Given the description of an element on the screen output the (x, y) to click on. 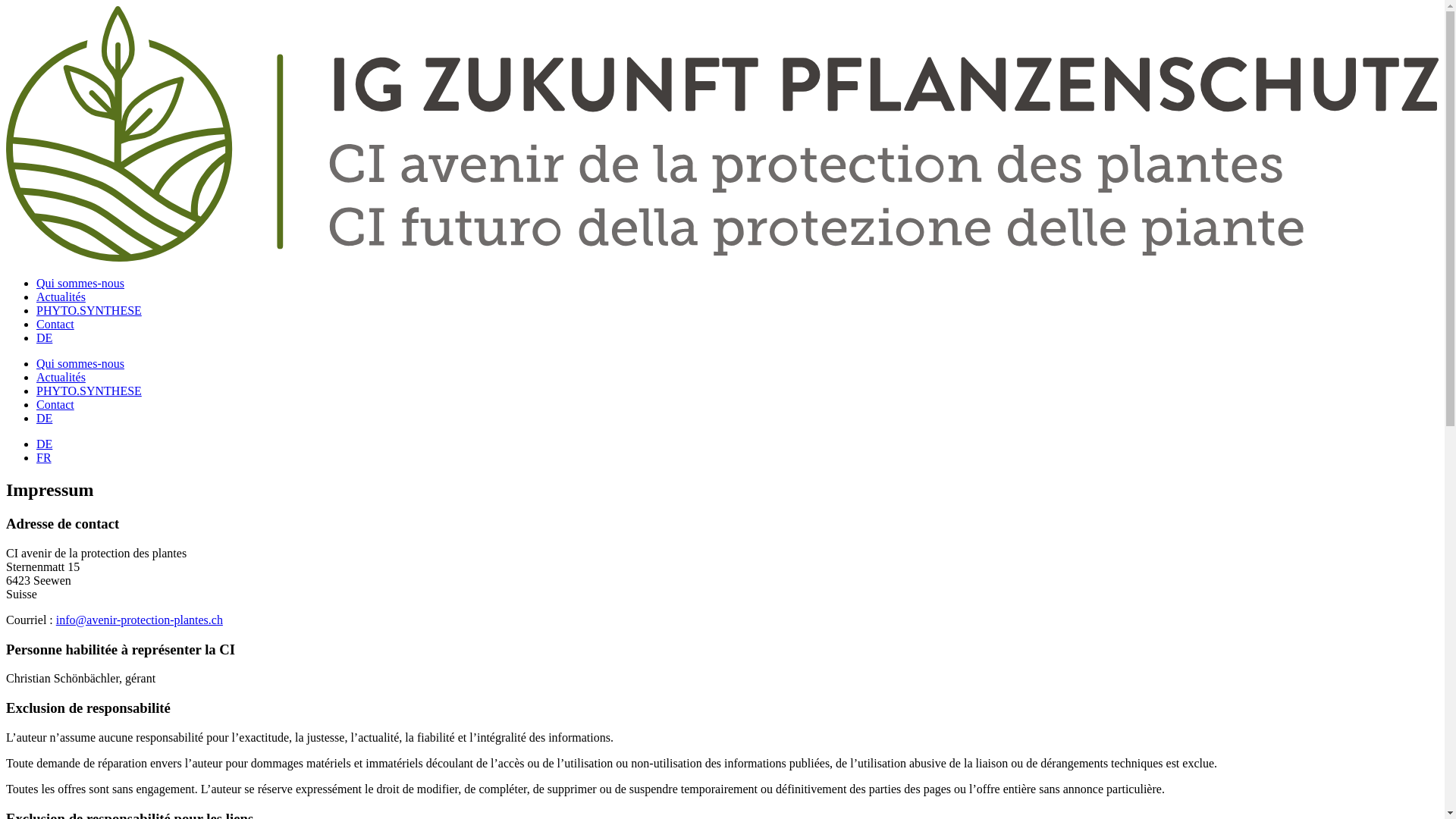
Contact Element type: text (55, 404)
FR Element type: text (43, 457)
Qui sommes-nous Element type: text (80, 363)
DE Element type: text (44, 443)
Qui sommes-nous Element type: text (80, 282)
PHYTO.SYNTHESE Element type: text (88, 390)
DE Element type: text (44, 417)
PHYTO.SYNTHESE Element type: text (88, 310)
info@avenir-protection-plantes.ch Element type: text (139, 619)
Contact Element type: text (55, 323)
DE Element type: text (44, 337)
